Given the description of an element on the screen output the (x, y) to click on. 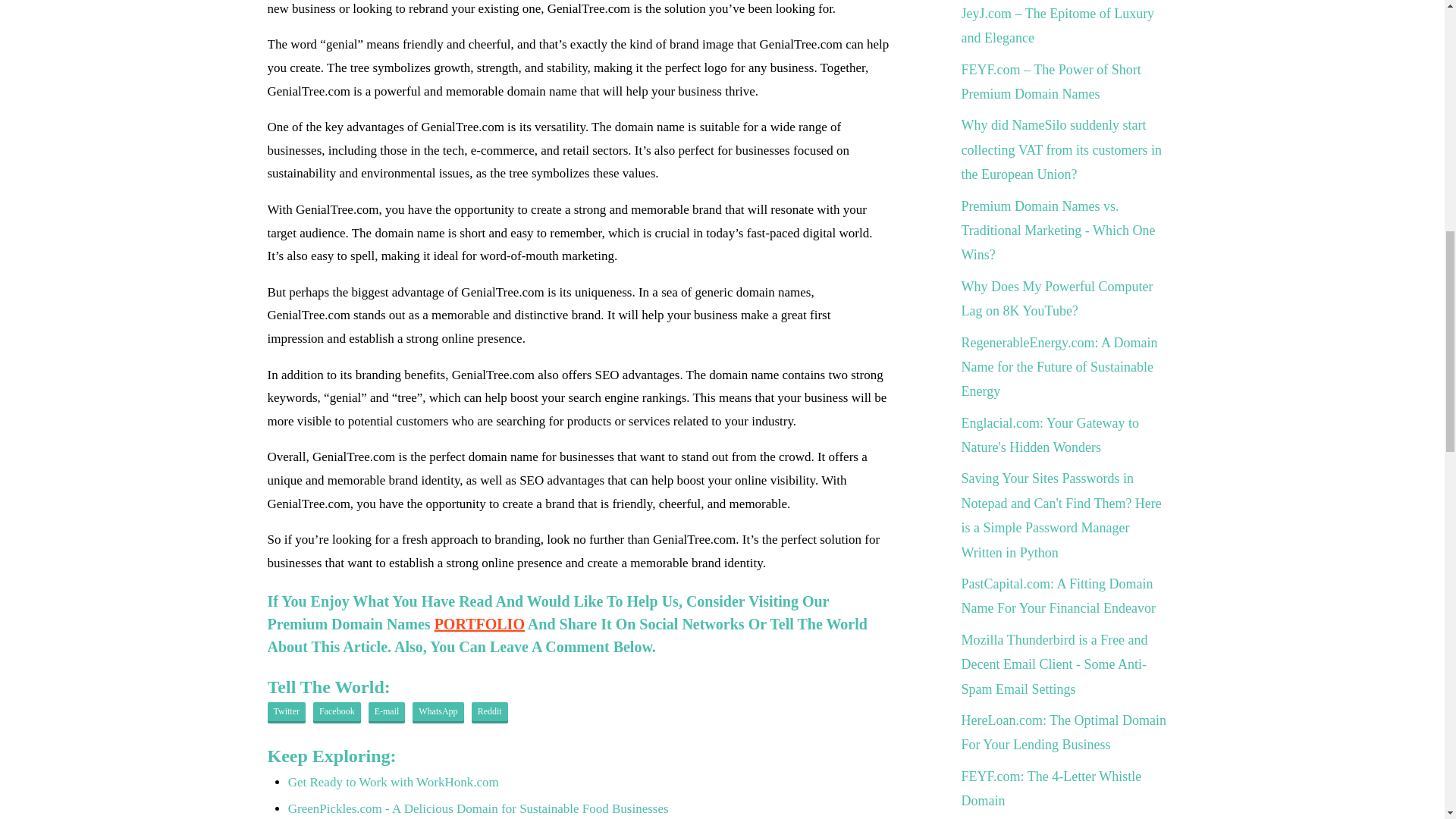
Twitter (285, 712)
PORTFOLIO (478, 623)
Facebook (337, 712)
E-mail (387, 712)
WhatsApp (437, 712)
Reddit (489, 712)
Get Ready to Work with WorkHonk.com (393, 781)
